Given the description of an element on the screen output the (x, y) to click on. 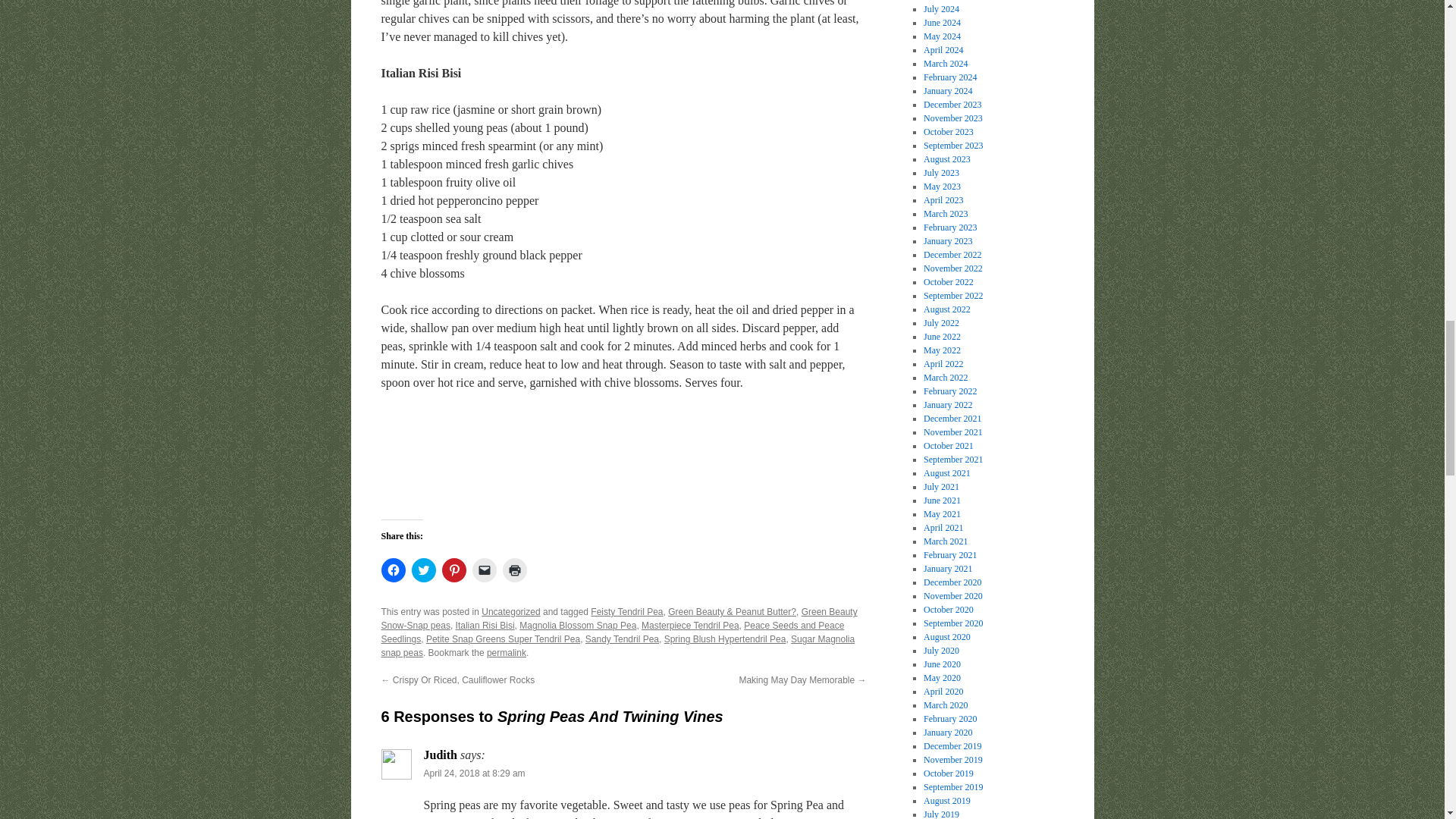
Permalink to Spring Peas And Twining Vines (505, 652)
Green Beauty Snow-Snap peas (618, 618)
Click to share on Pinterest (453, 569)
Uncategorized (510, 611)
permalink (505, 652)
Magnolia Blossom Snap Pea (577, 624)
Sugar Magnolia snap peas (617, 645)
Click to share on Twitter (422, 569)
Click to email a link to a friend (483, 569)
Feisty Tendril Pea (626, 611)
Spring Blush Hypertendril Pea (724, 638)
Click to share on Facebook (392, 569)
Italian Risi Bisi (485, 624)
Masterpiece Tendril Pea (690, 624)
Click to print (513, 569)
